Given the description of an element on the screen output the (x, y) to click on. 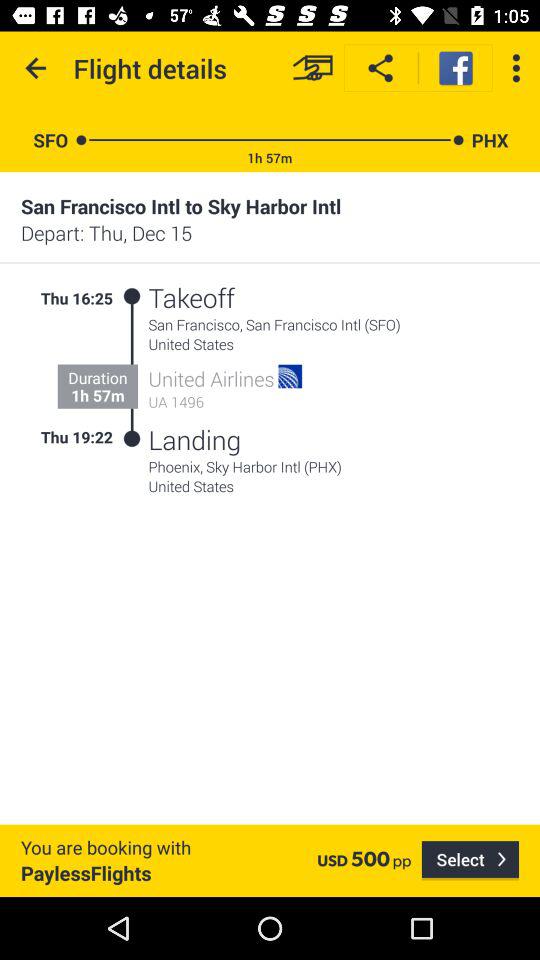
turn on ua 1496 icon (226, 401)
